Given the description of an element on the screen output the (x, y) to click on. 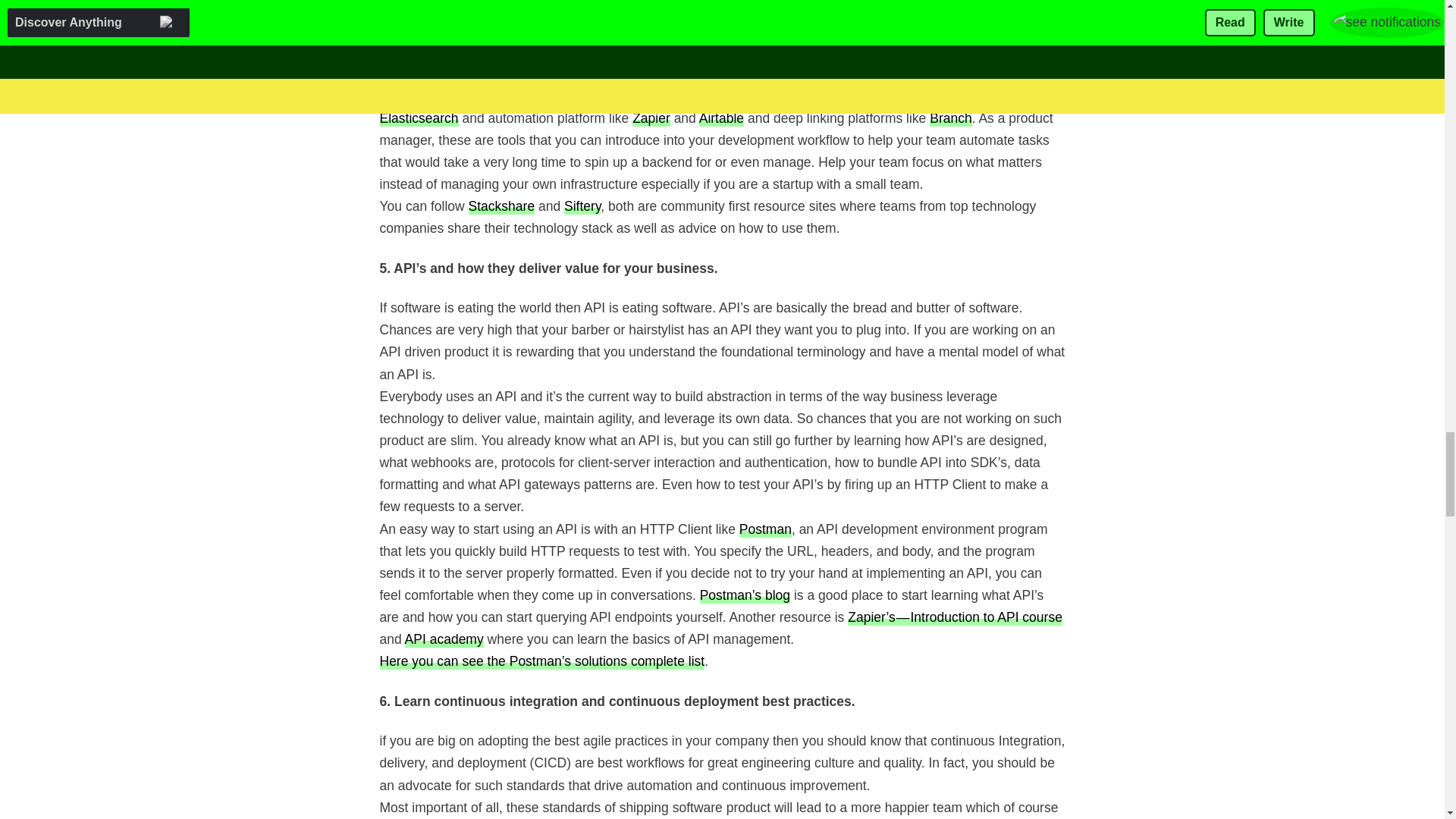
Pusher (604, 50)
Socket.io, (684, 50)
Firebase (550, 50)
New Relic (718, 61)
Datadog (440, 72)
Apigee (494, 72)
